Given the description of an element on the screen output the (x, y) to click on. 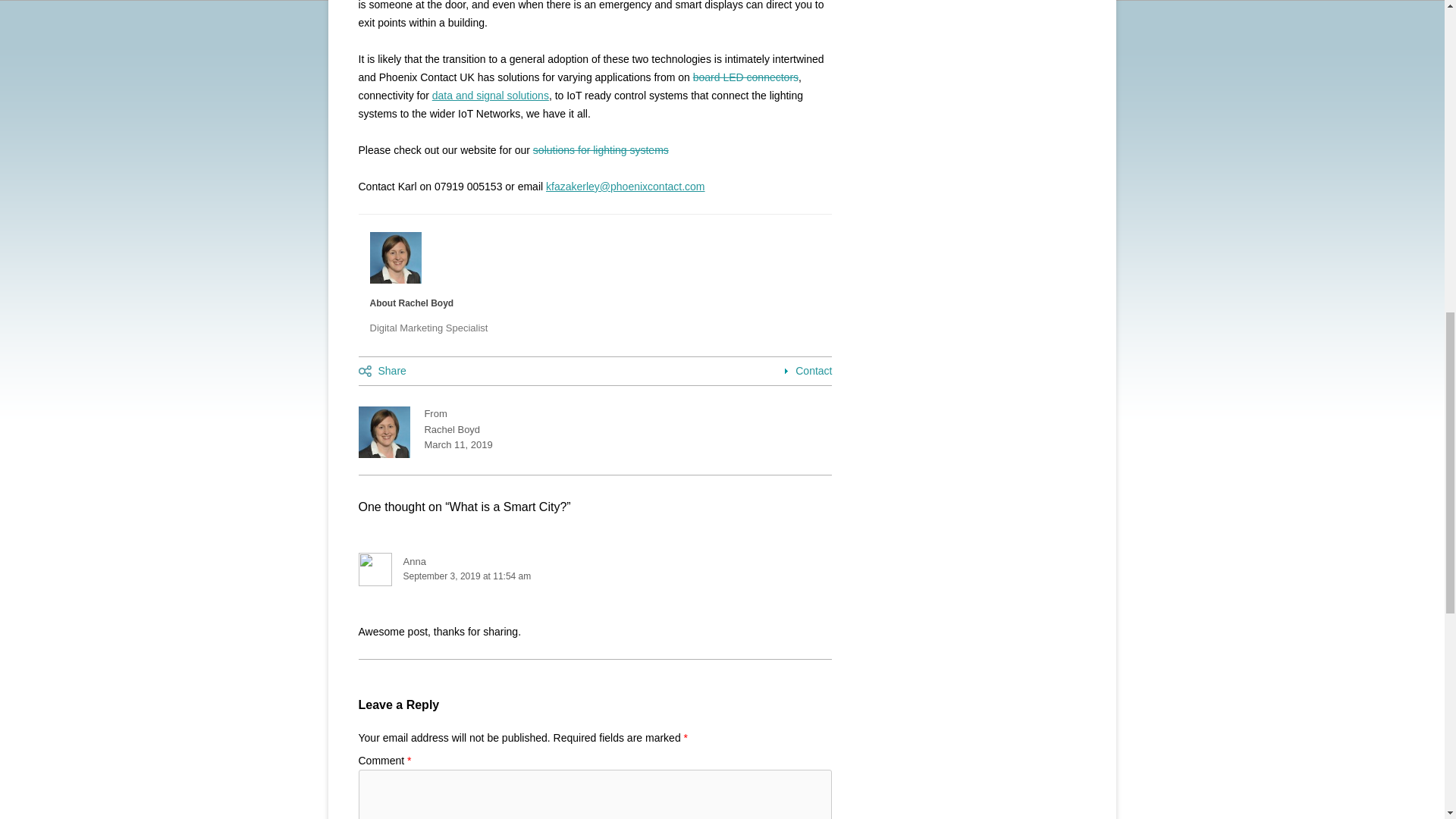
solutions for lighting systems (600, 150)
September 3, 2019 at 11:54 am (594, 576)
Contact (804, 369)
Anna (414, 561)
Kontakt zum Autor (804, 369)
data and signal solutions (490, 95)
Share (382, 370)
board LED connectors (745, 77)
